Given the description of an element on the screen output the (x, y) to click on. 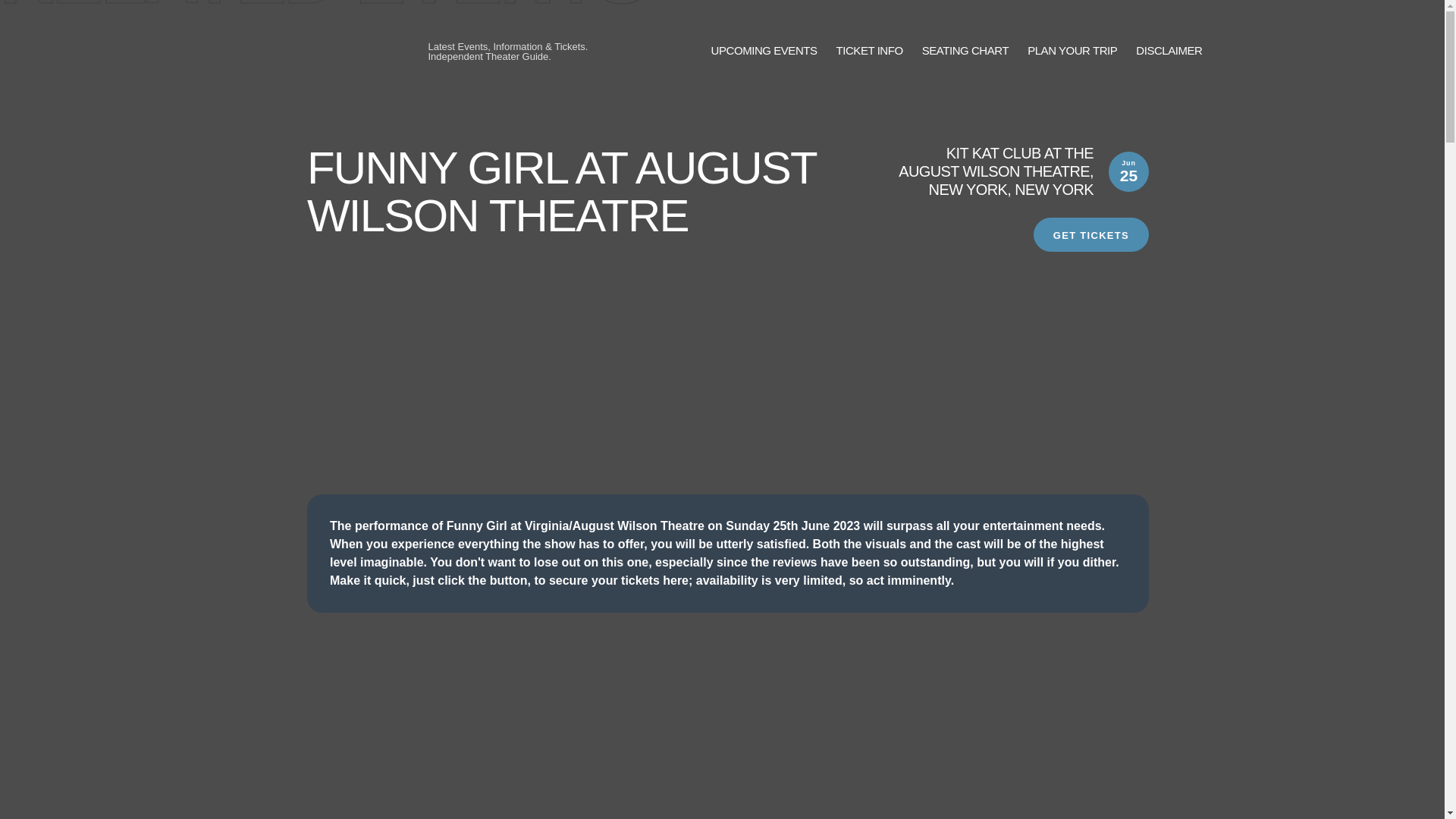
TICKET INFO (868, 50)
DISCLAIMER (1168, 50)
GET TICKETS (1090, 234)
SEATING CHART (965, 50)
PLAN YOUR TRIP (1071, 50)
UPCOMING EVENTS (763, 50)
